Given the description of an element on the screen output the (x, y) to click on. 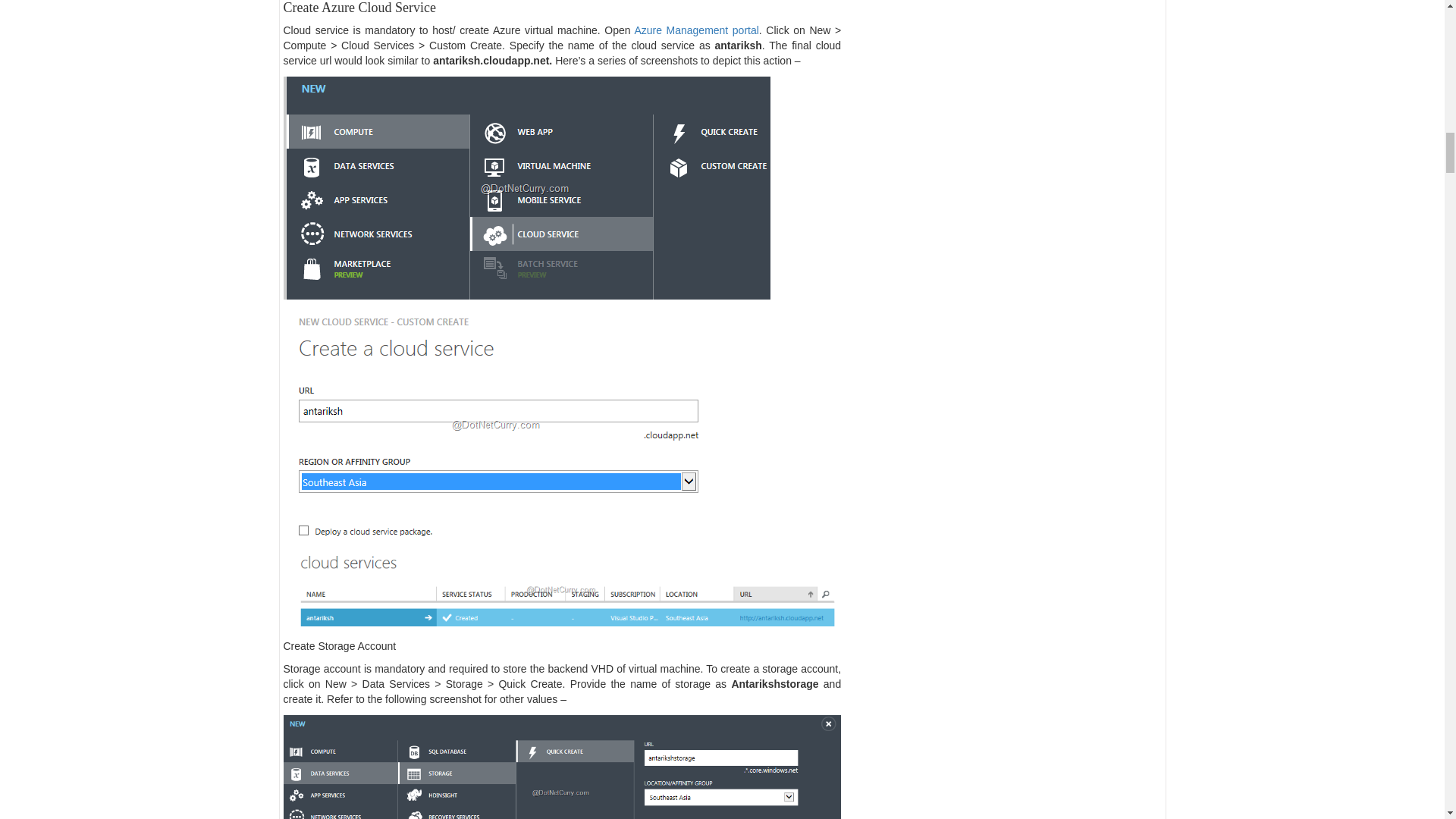
create-cloud-service2 (497, 424)
create-storage1 (562, 766)
create-cloud-service1 (526, 189)
create-cloud-service3 (562, 589)
